Given the description of an element on the screen output the (x, y) to click on. 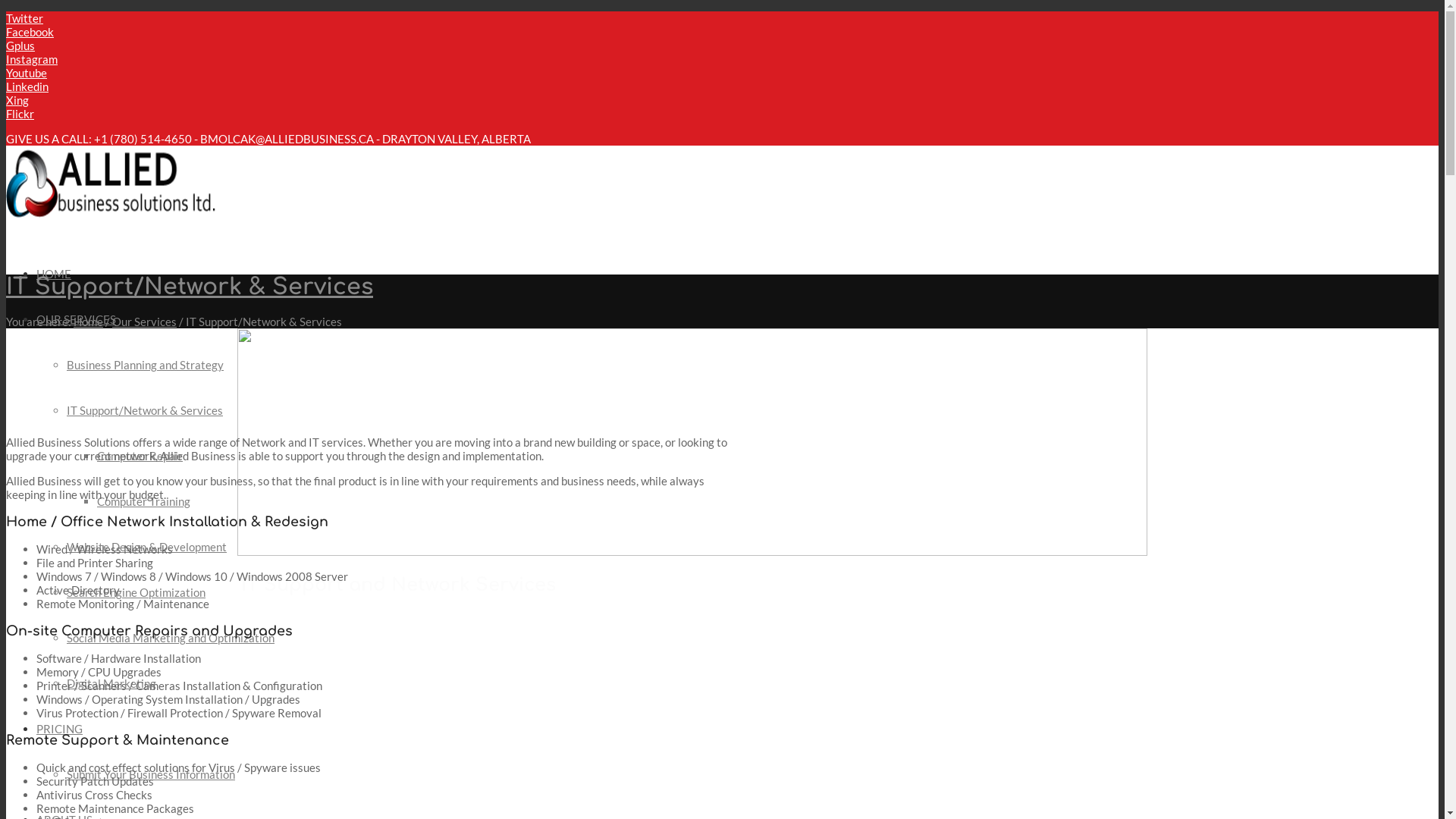
Computer Training Element type: text (143, 501)
IT Support/Network & Services Element type: text (144, 410)
Twitter Element type: text (24, 18)
Linkedin Element type: text (27, 86)
Submit Your Business Information Element type: text (150, 774)
Social Media Marketing and Optimization Element type: text (170, 637)
HOME Element type: text (53, 273)
Facebook Element type: text (29, 31)
Search Engine Optimization Element type: text (135, 592)
Our Services Element type: text (144, 321)
Computer Repair Element type: text (139, 455)
OUR SERVICES Element type: text (76, 319)
Website Design & Development Element type: text (146, 546)
IT Support/Network & Services Element type: text (189, 286)
Instagram Element type: text (31, 58)
Business Planning and Strategy Element type: text (144, 364)
Flickr Element type: text (20, 113)
Xing Element type: text (17, 99)
PRICING Element type: text (59, 728)
Gplus Element type: text (20, 45)
Home Element type: text (88, 321)
Youtube Element type: text (26, 72)
Digital Marketing Element type: text (111, 683)
